Given the description of an element on the screen output the (x, y) to click on. 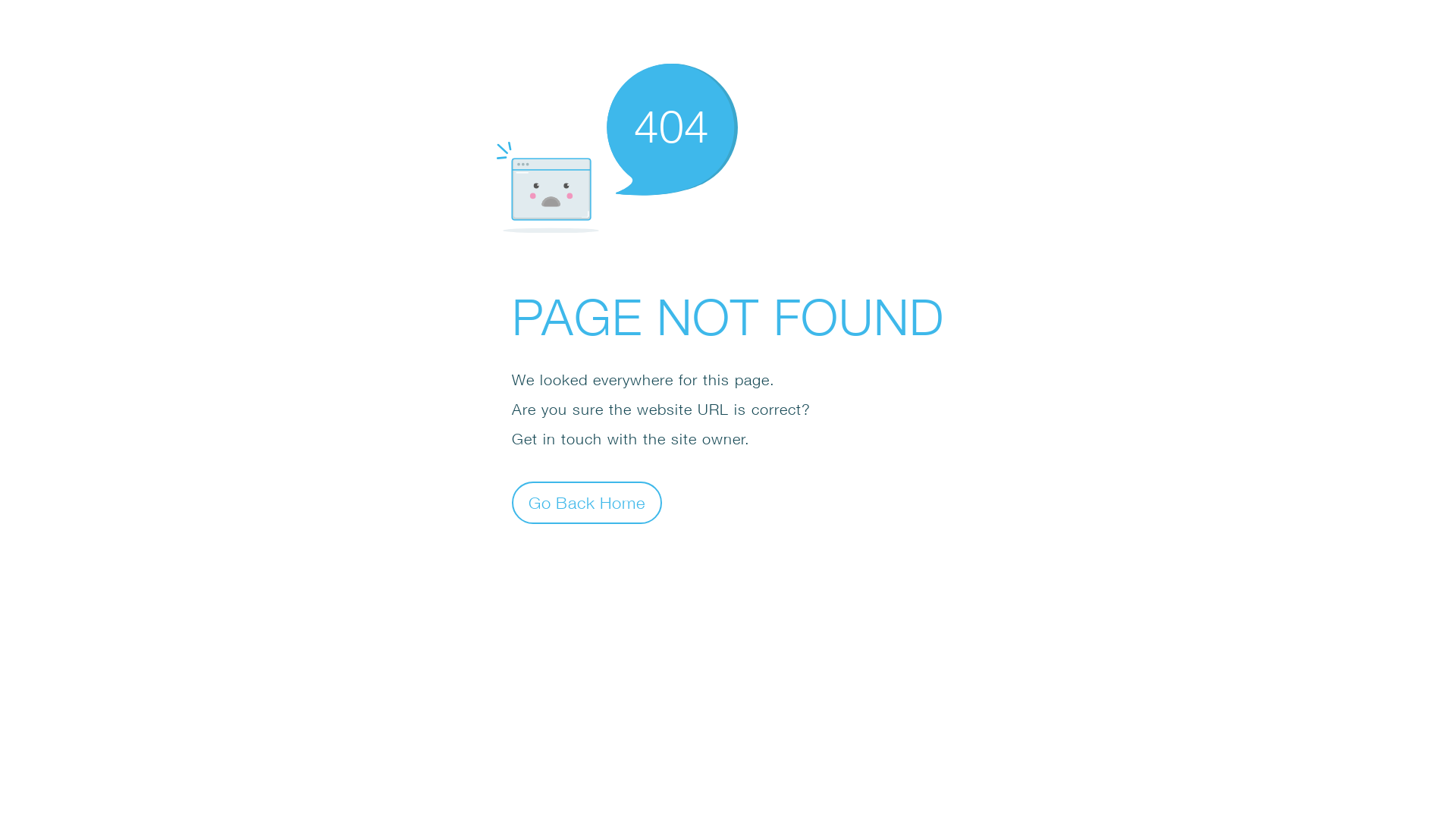
Go Back Home Element type: text (586, 502)
